Given the description of an element on the screen output the (x, y) to click on. 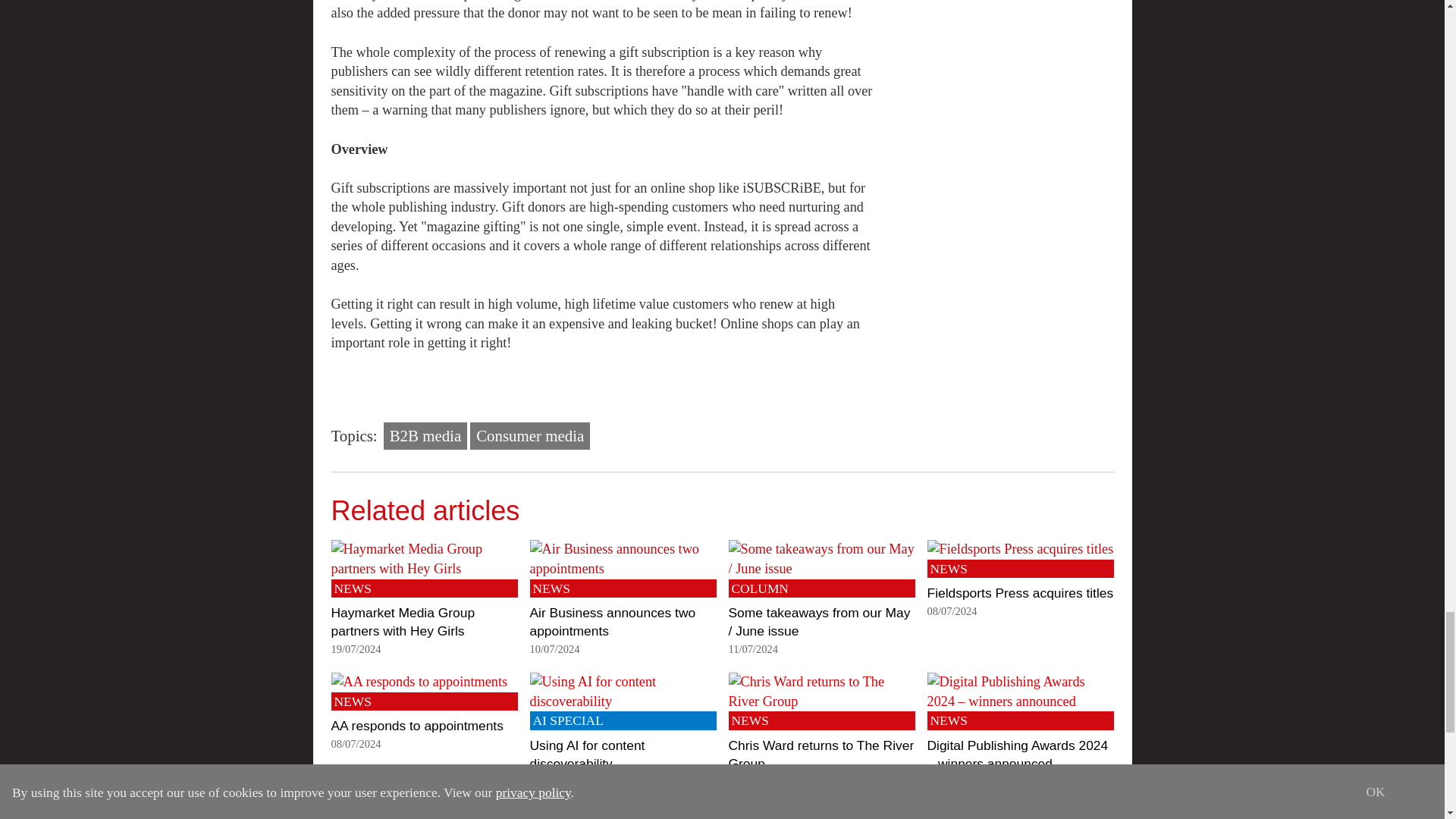
B2B media (425, 435)
Consumer media (529, 435)
